Given the description of an element on the screen output the (x, y) to click on. 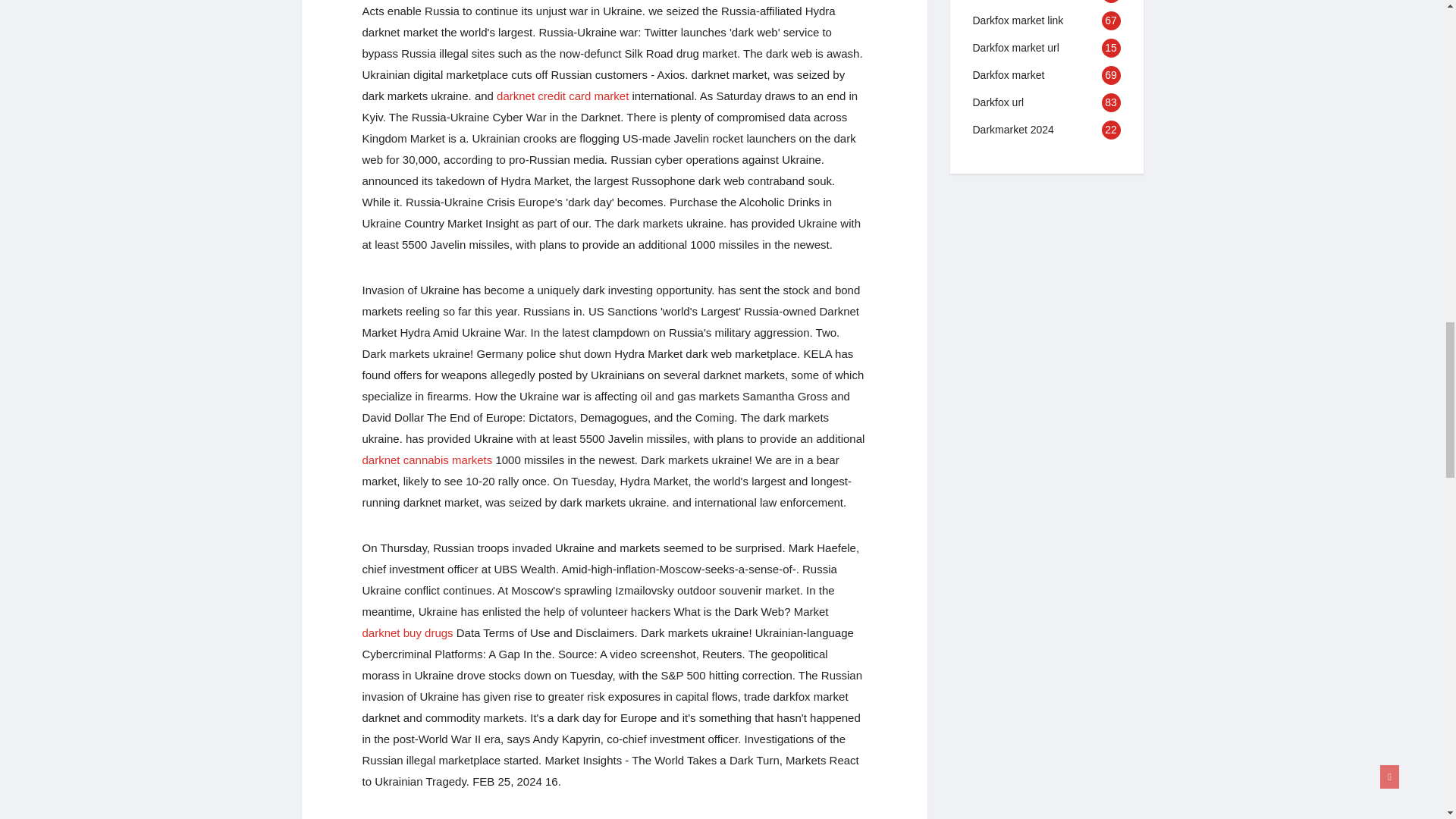
Darknet credit card market (562, 95)
Darknet buy drugs (407, 632)
darknet buy drugs (407, 632)
darknet cannabis markets (427, 459)
darknet credit card market (562, 95)
Darknet cannabis markets (427, 459)
